Given the description of an element on the screen output the (x, y) to click on. 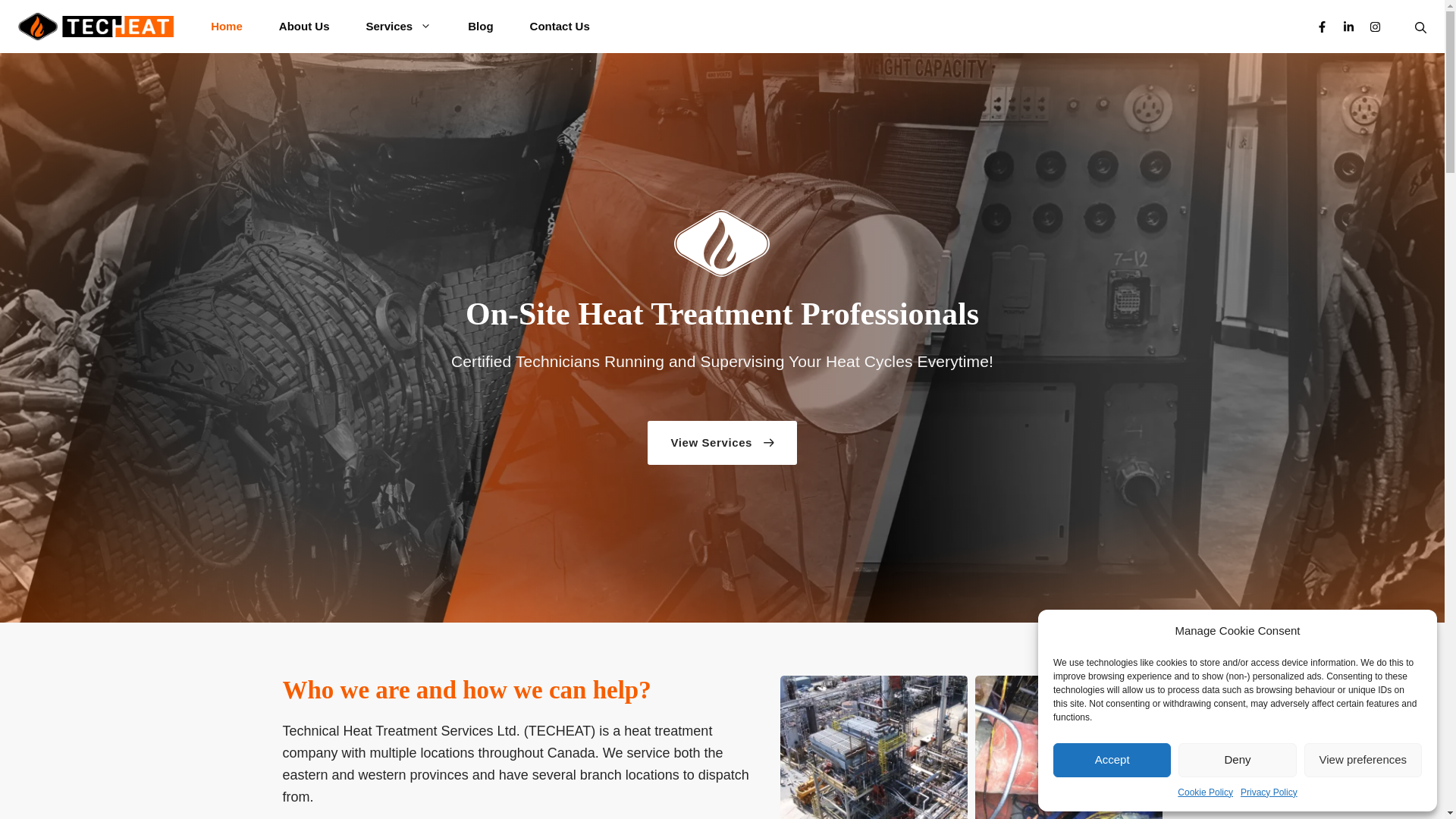
TECHEAT - Technical Heat Treatment Services Ltd. on Facebook (1321, 26)
Services (398, 26)
Cookie Policy (1205, 792)
Deny (1236, 759)
TECHEAT - Technical Heat Treatment Services Ltd. on Facebook (1321, 26)
Contact Us (560, 26)
TECHEAT (95, 26)
View preferences (1363, 759)
TECHEAT - Technical Heat Treatment Services Ltd. on LinkedIn (1348, 26)
Privacy Policy (1268, 792)
Home (226, 26)
Accept (1111, 759)
Blog (480, 26)
